Given the description of an element on the screen output the (x, y) to click on. 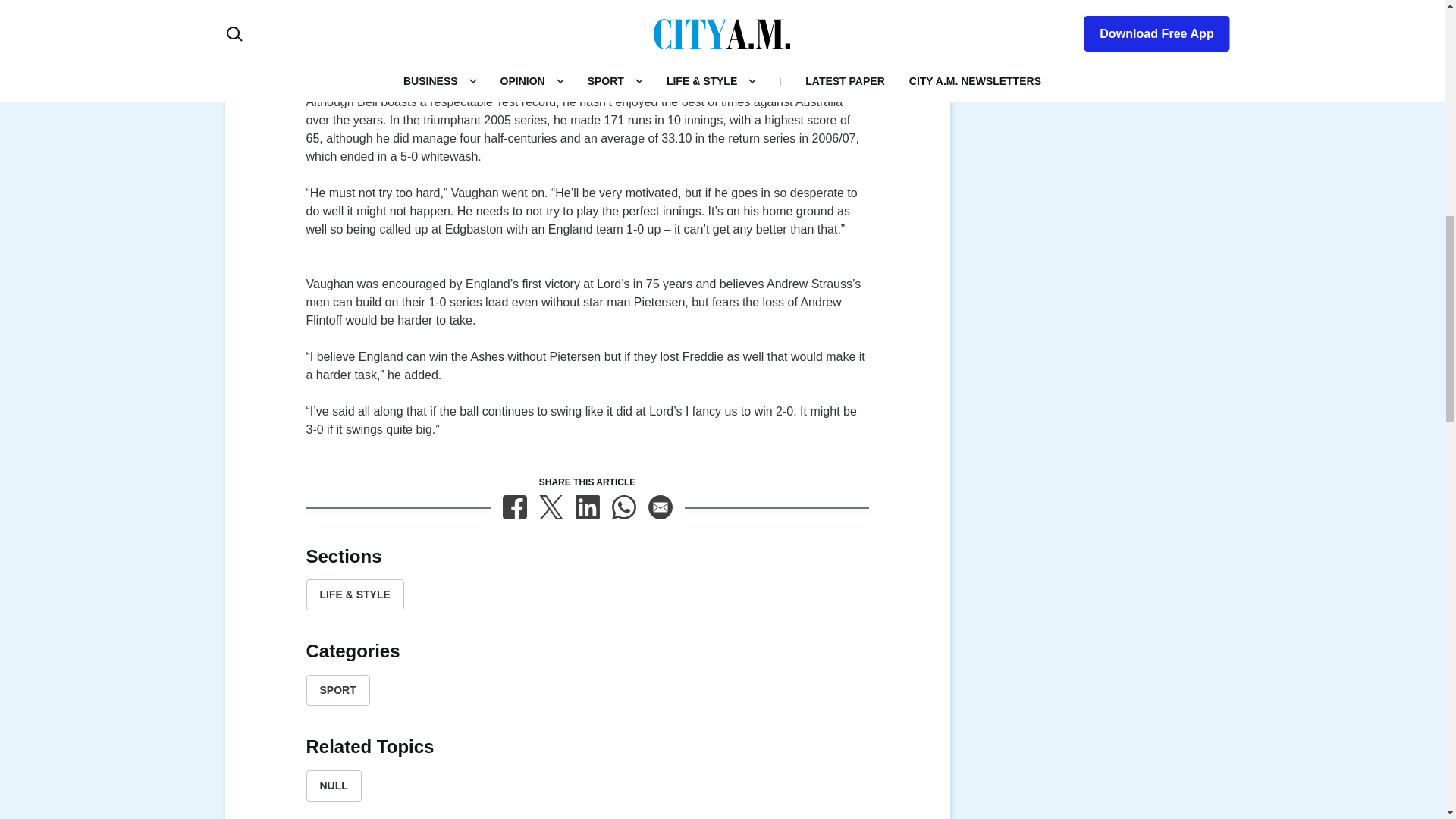
LinkedIn (586, 507)
Facebook (513, 507)
X (550, 507)
WhatsApp (622, 507)
Email (659, 507)
